Given the description of an element on the screen output the (x, y) to click on. 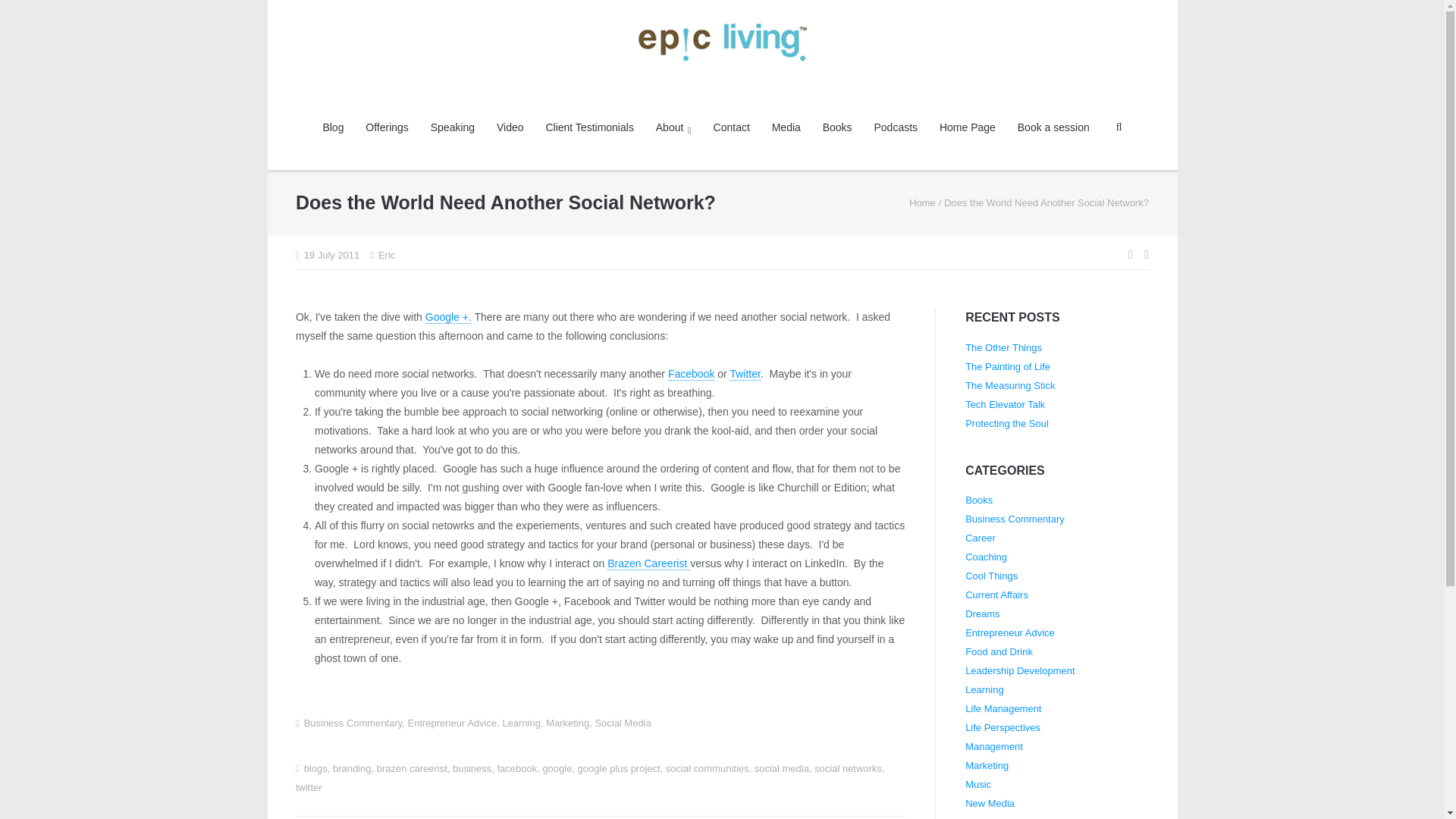
twitter (308, 787)
Client Testimonials (588, 127)
Marketing (567, 722)
brazen careerist (411, 767)
social networks (847, 767)
facebook (516, 767)
social communities (707, 767)
Brazen Careerist (648, 563)
Facebook (691, 373)
branding (352, 767)
Learning (521, 722)
Twitter (744, 373)
Social Media (622, 722)
Home (922, 202)
business (472, 767)
